Given the description of an element on the screen output the (x, y) to click on. 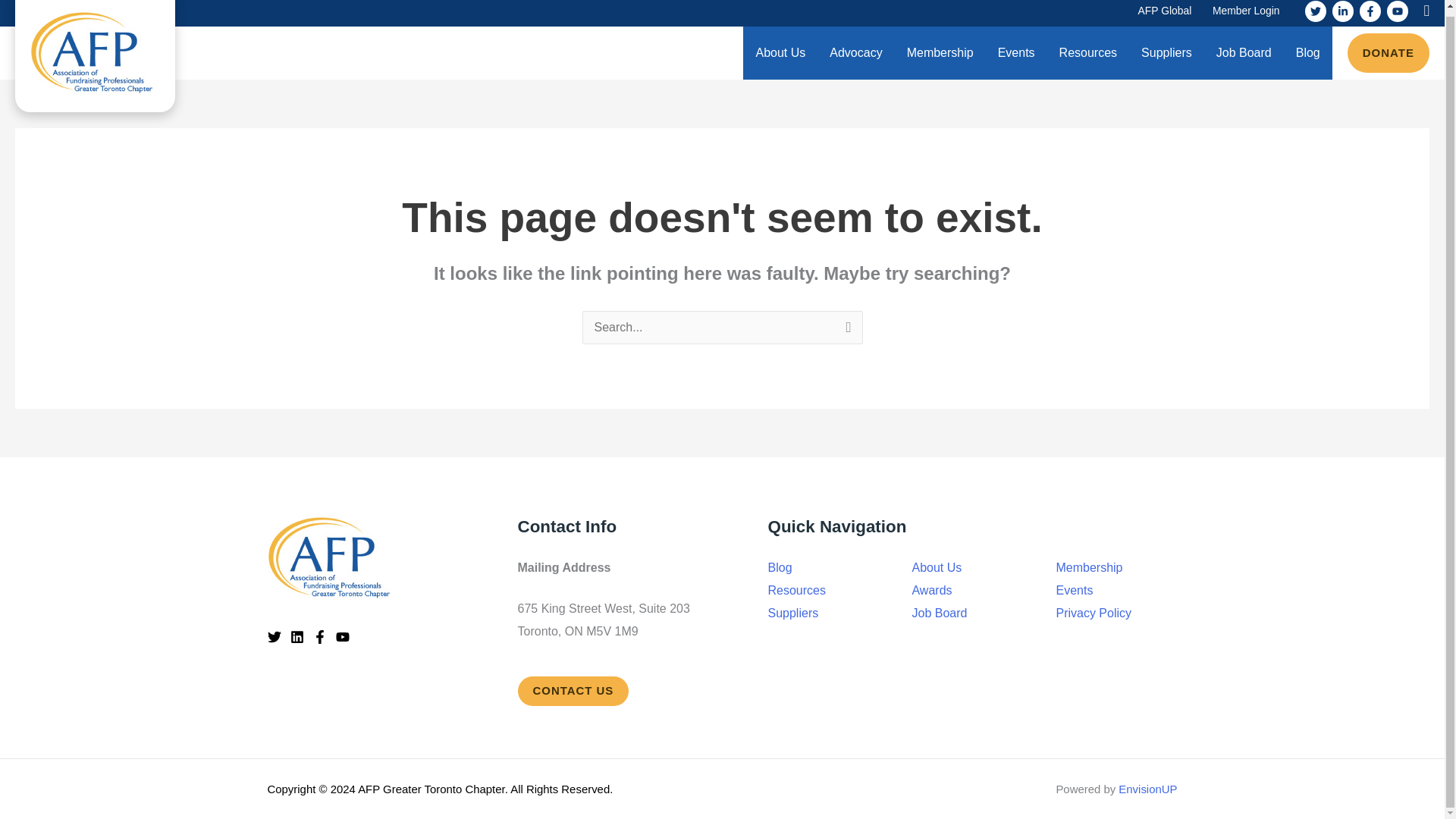
AFP Global (1164, 13)
Job Board (1244, 52)
Advocacy (854, 52)
Member Login (1246, 13)
Resources (1087, 52)
About Us (779, 52)
Membership (940, 52)
Events (1015, 52)
Suppliers (1166, 52)
